Given the description of an element on the screen output the (x, y) to click on. 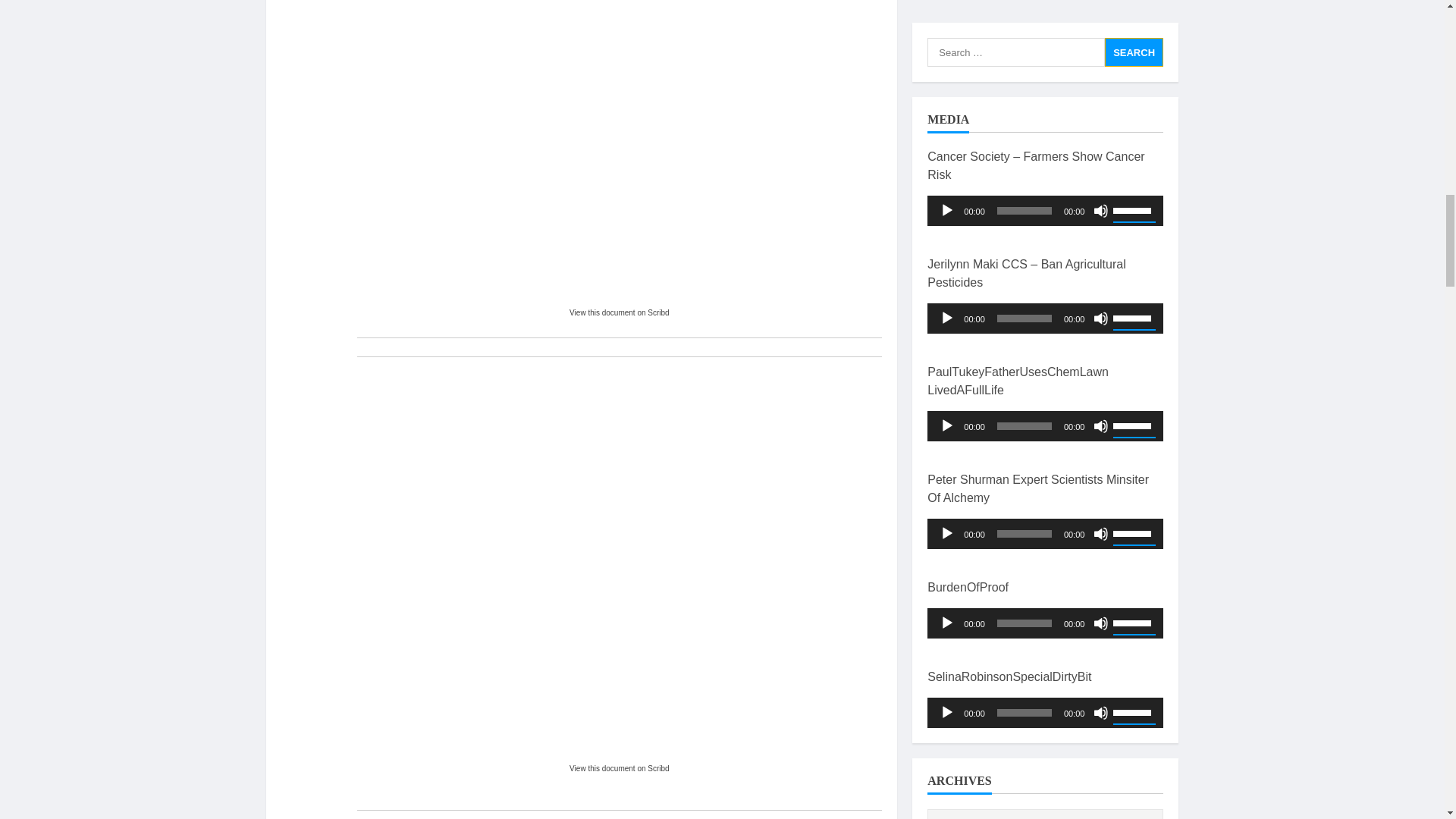
View this document on Scribd (619, 768)
View this document on Scribd (619, 312)
